Given the description of an element on the screen output the (x, y) to click on. 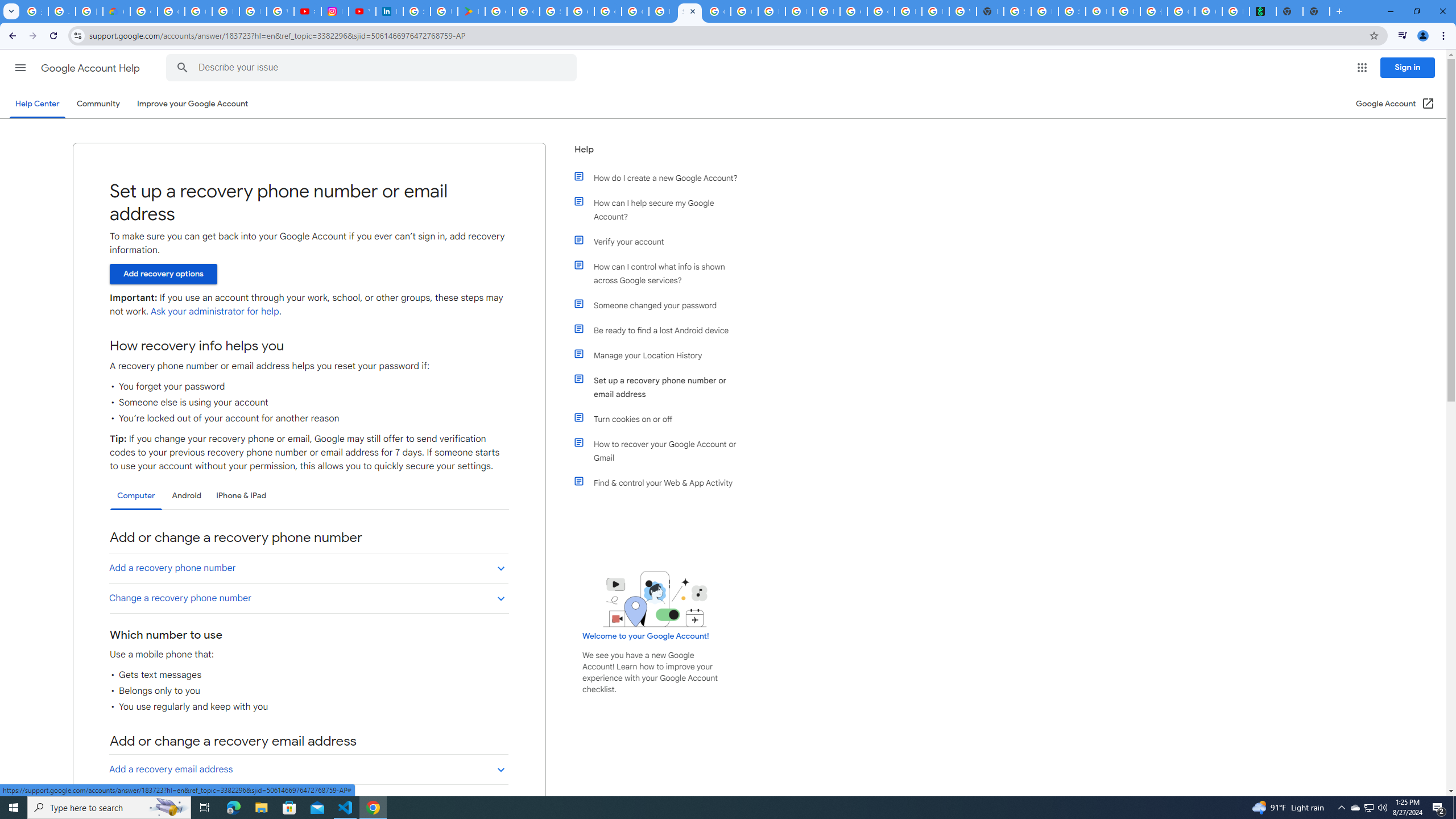
Learning Center home page image (655, 598)
Add a recovery email address (308, 769)
Turn cookies on or off (661, 419)
Manage your Location History (661, 355)
Improve your Google Account (192, 103)
Be ready to find a lost Android device (661, 330)
Set up a recovery phone number or email address (661, 387)
New Tab (1316, 11)
Browse Chrome as a guest - Computer - Google Chrome Help (908, 11)
